Given the description of an element on the screen output the (x, y) to click on. 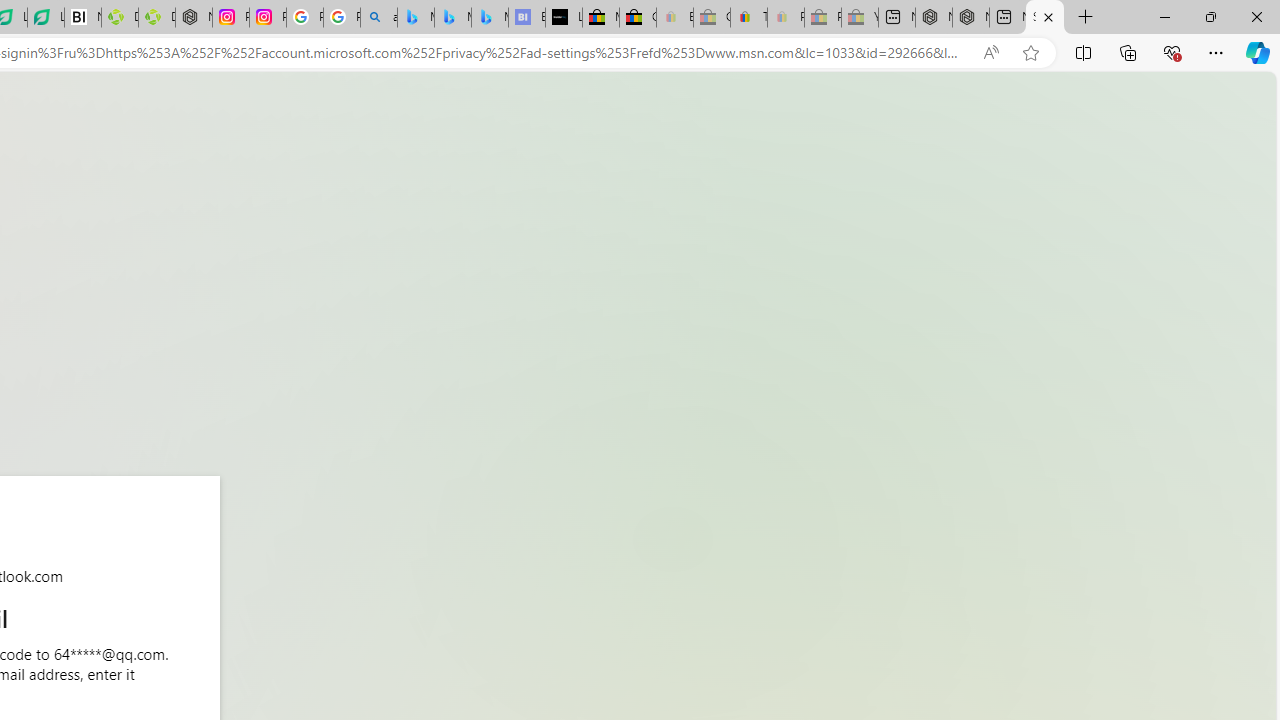
Yard, Garden & Outdoor Living - Sleeping (860, 17)
alabama high school quarterback dies - Search (378, 17)
